Given the description of an element on the screen output the (x, y) to click on. 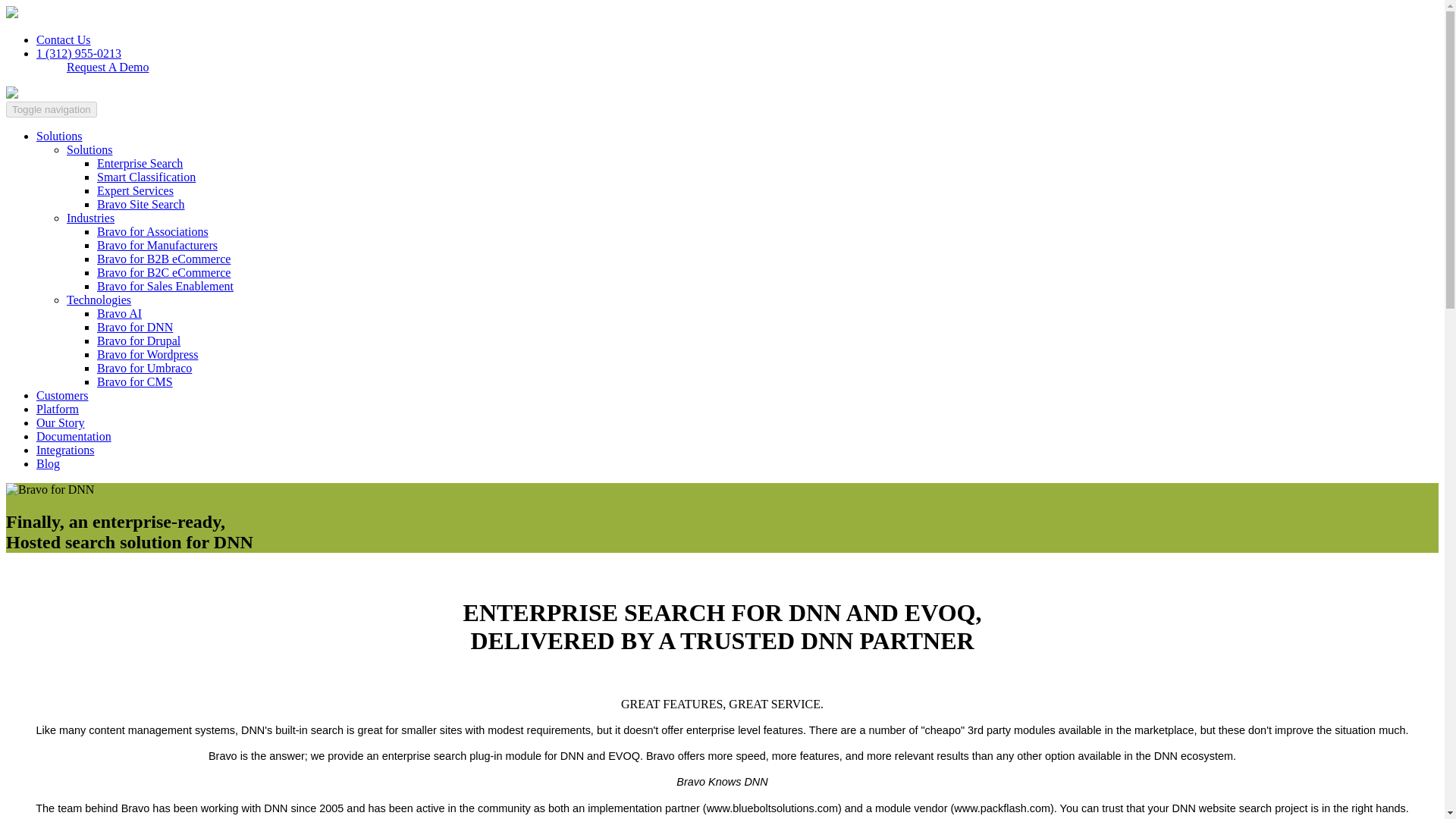
Enterprise Search (140, 163)
Bravo for Manufacturers (156, 245)
Bravo Site Search (140, 204)
Contact Us (63, 39)
Bravo for Umbraco (144, 367)
Platform (57, 408)
Our Story (60, 422)
Bravo for B2B eCommerce (163, 258)
Bravo for Sales Enablement (164, 286)
Solutions (89, 149)
